Given the description of an element on the screen output the (x, y) to click on. 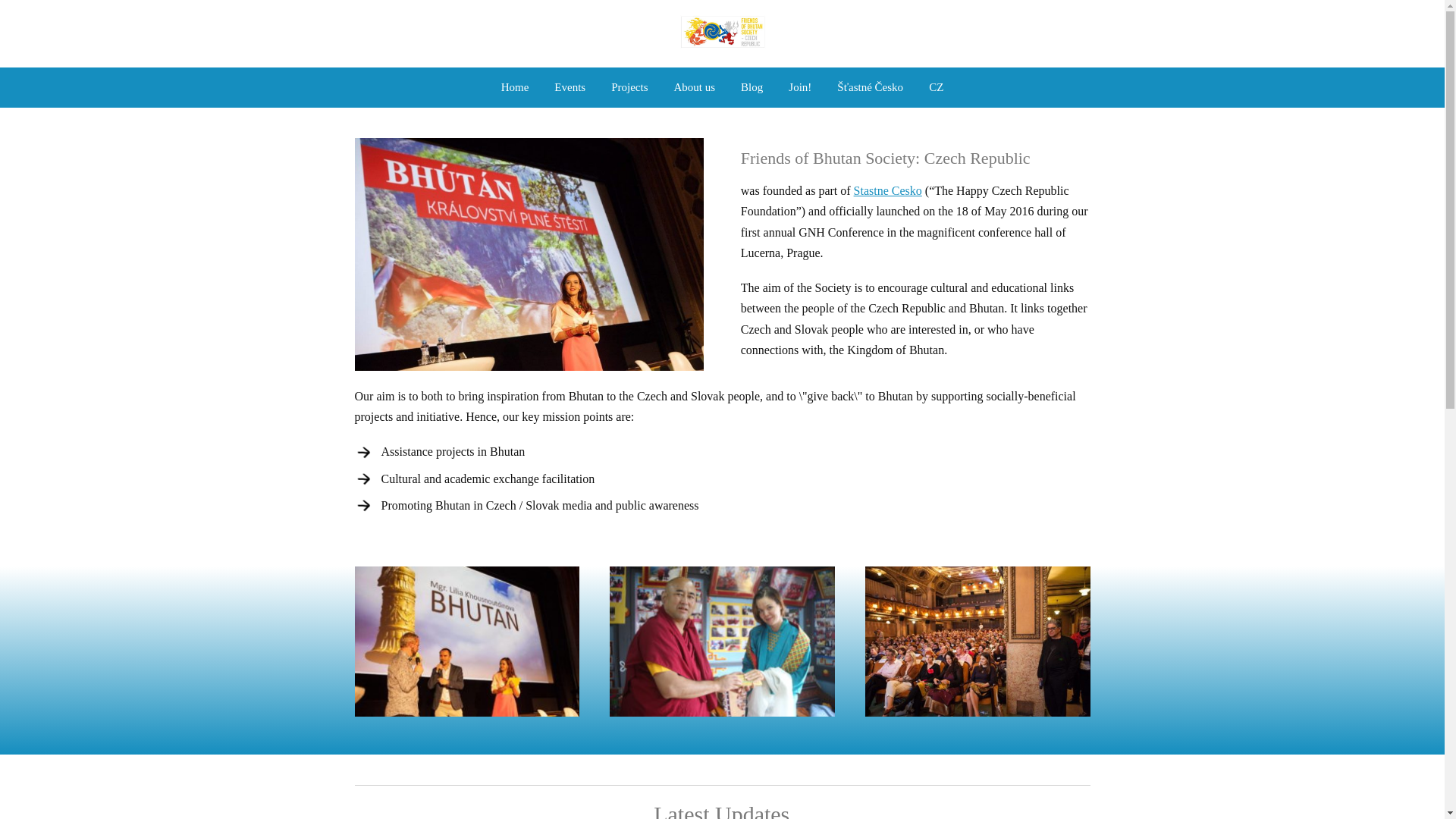
About us (694, 87)
Join! (800, 87)
CZ (936, 87)
Events (569, 87)
friendsofbhutan.cz (722, 33)
Stastne Cesko (887, 190)
Home (514, 87)
Blog (752, 87)
Projects (629, 87)
